Given the description of an element on the screen output the (x, y) to click on. 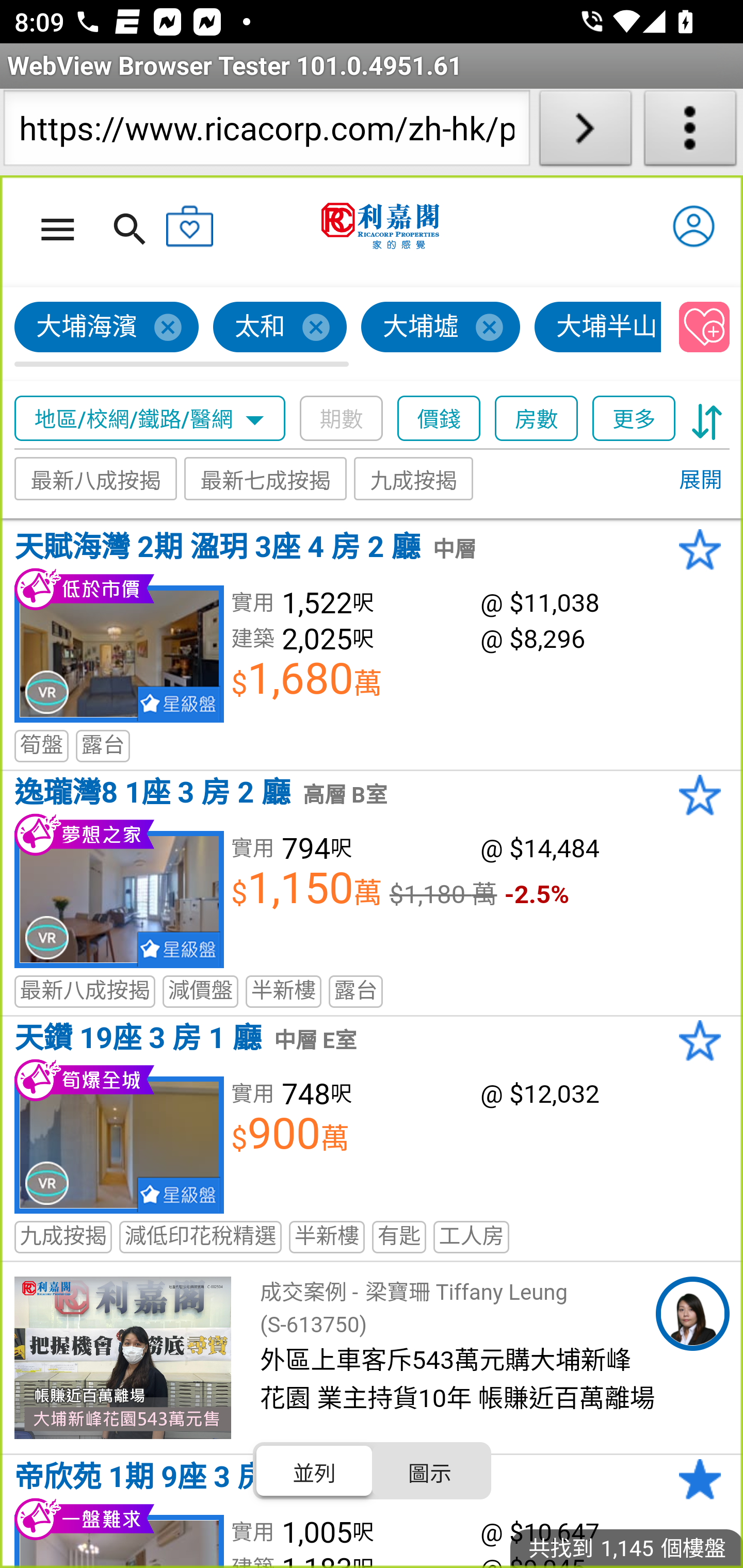
Load URL (585, 132)
About WebView (690, 132)
大埔海濱 (106, 327)
太和 (280, 327)
大埔墟 (441, 327)
大埔半山 (598, 327)
save (705, 327)
地區/校網/鐵路/醫網 (150, 418)
期數 (341, 418)
價錢 (439, 418)
房數 (536, 418)
更多 (634, 418)
sort (706, 418)
最新八成按揭 (96, 478)
最新七成按揭 (266, 478)
九成按揭 (413, 478)
展開 (699, 481)
Tiffany Leung (692, 1313)
並列 (314, 1470)
圖示 (429, 1470)
